Given the description of an element on the screen output the (x, y) to click on. 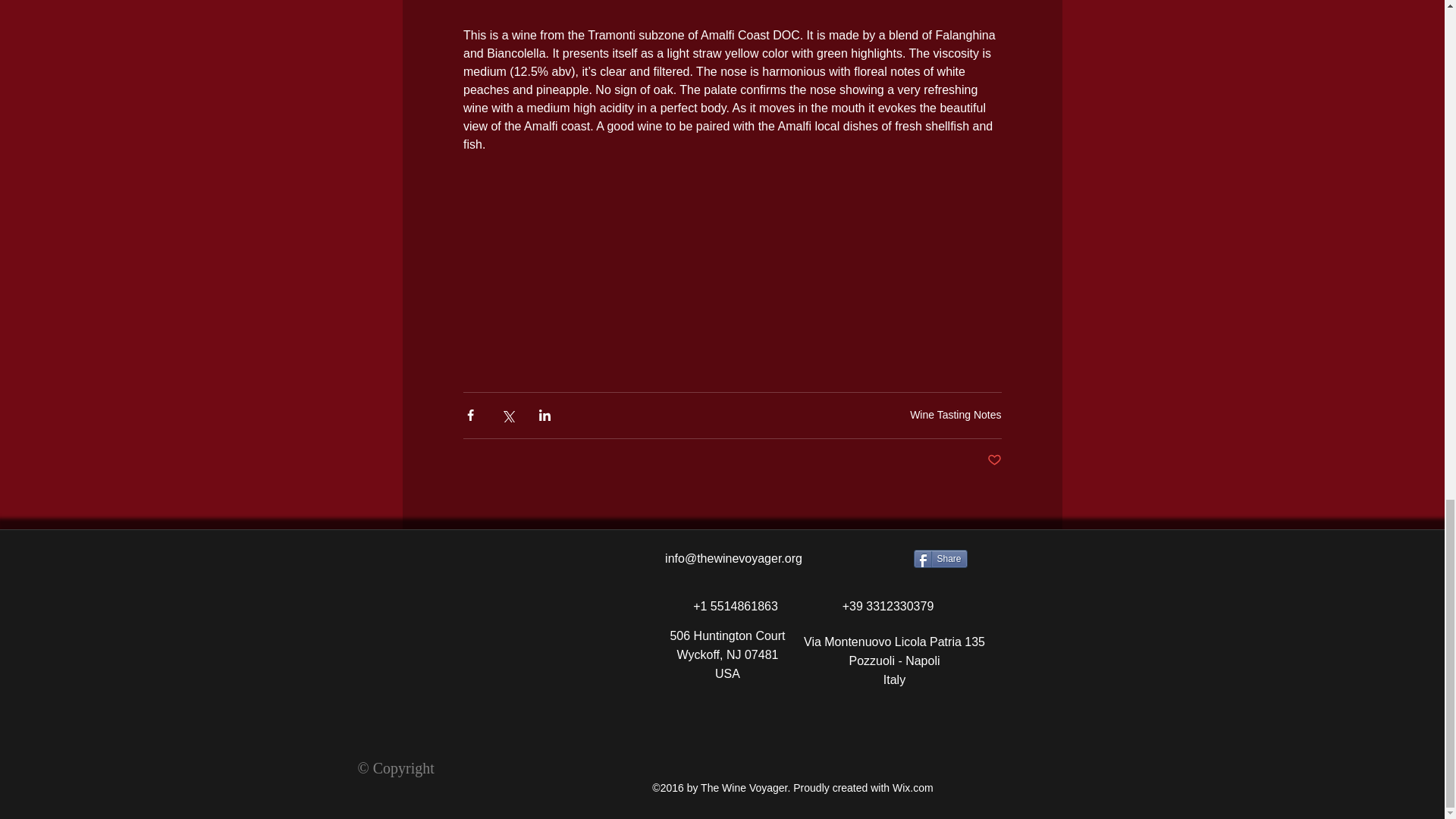
Wine Tasting Notes (955, 414)
Facebook Like (515, 712)
Post not marked as liked (994, 460)
Share (939, 558)
Share (939, 558)
